Given the description of an element on the screen output the (x, y) to click on. 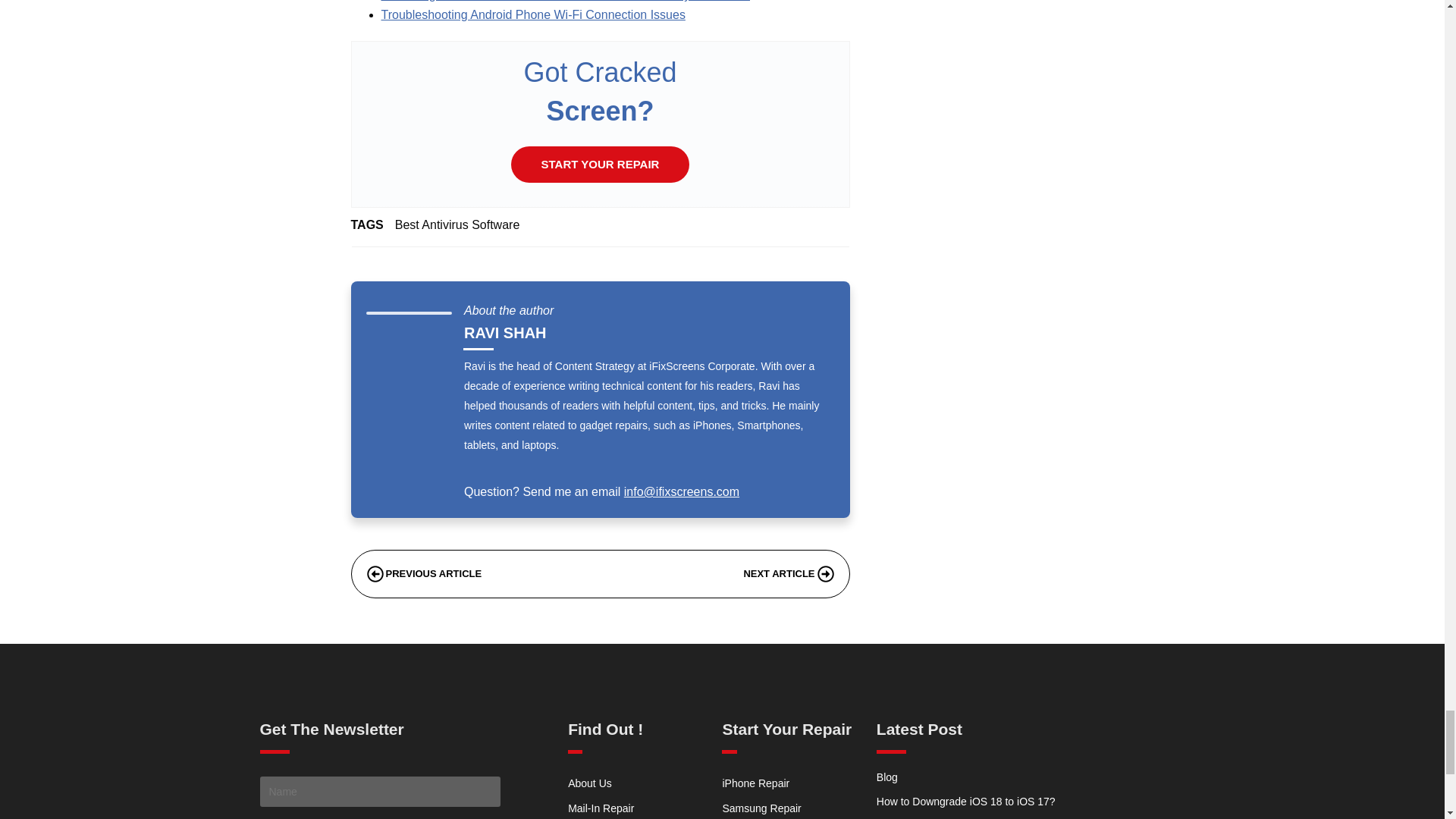
Ravi Shah (505, 332)
